Given the description of an element on the screen output the (x, y) to click on. 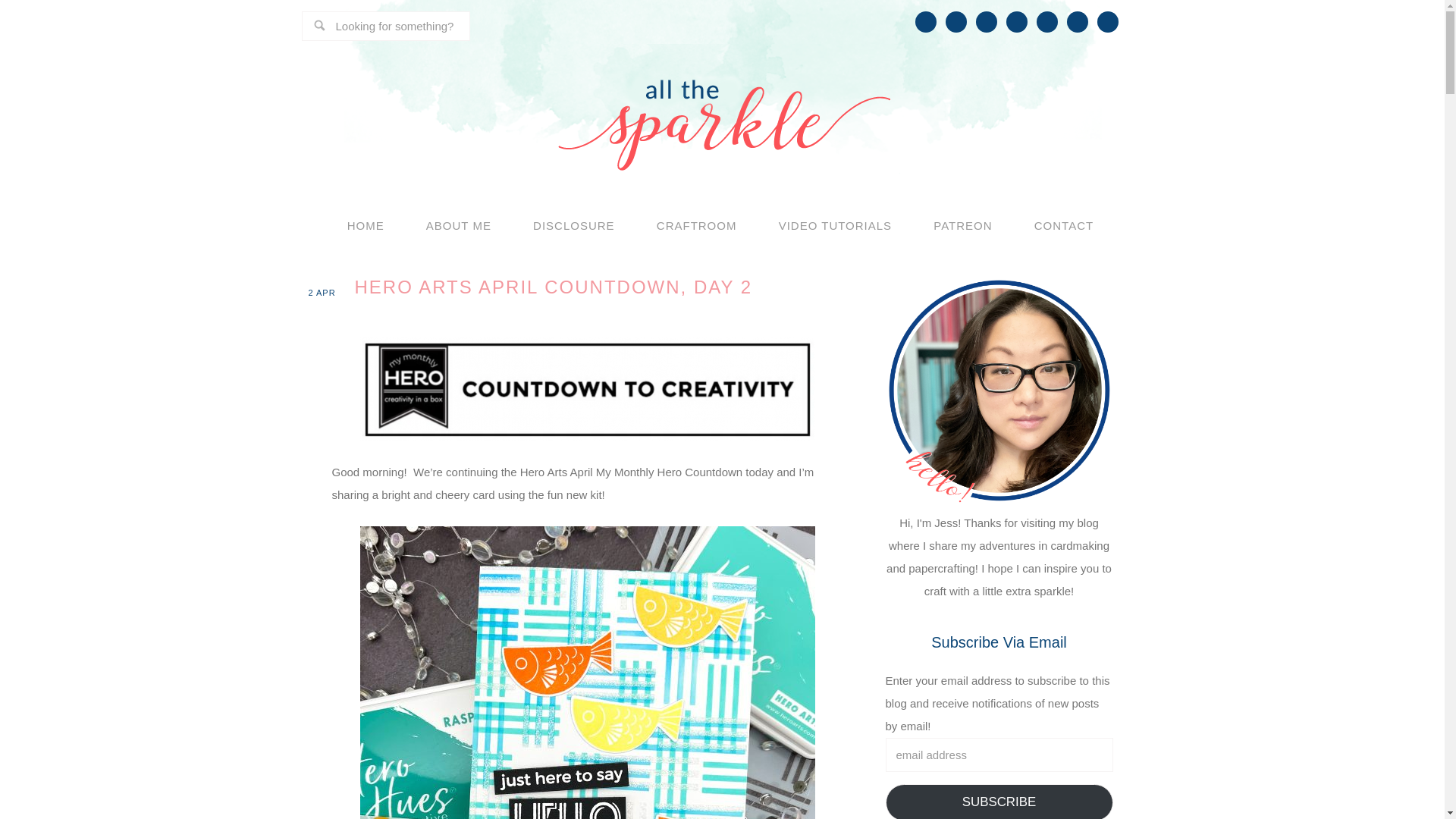
CRAFTROOM (696, 225)
ABOUT ME (459, 225)
HOME (366, 225)
ALL THE SPARKLE (721, 109)
PATREON (962, 225)
VIDEO TUTORIALS (835, 225)
DISCLOSURE (573, 225)
CONTACT (1063, 225)
